Given the description of an element on the screen output the (x, y) to click on. 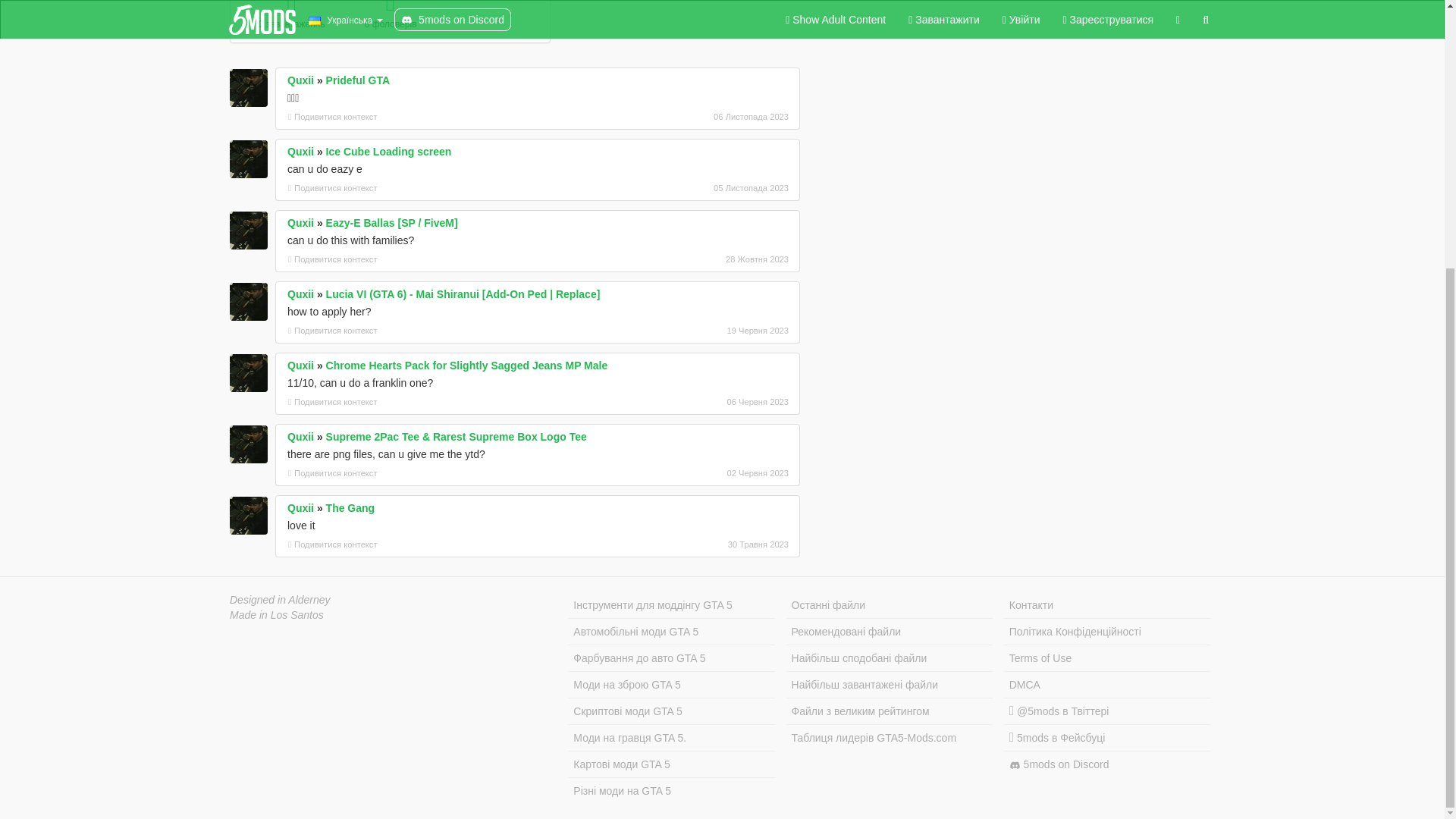
5mods on Discord (1106, 764)
